Given the description of an element on the screen output the (x, y) to click on. 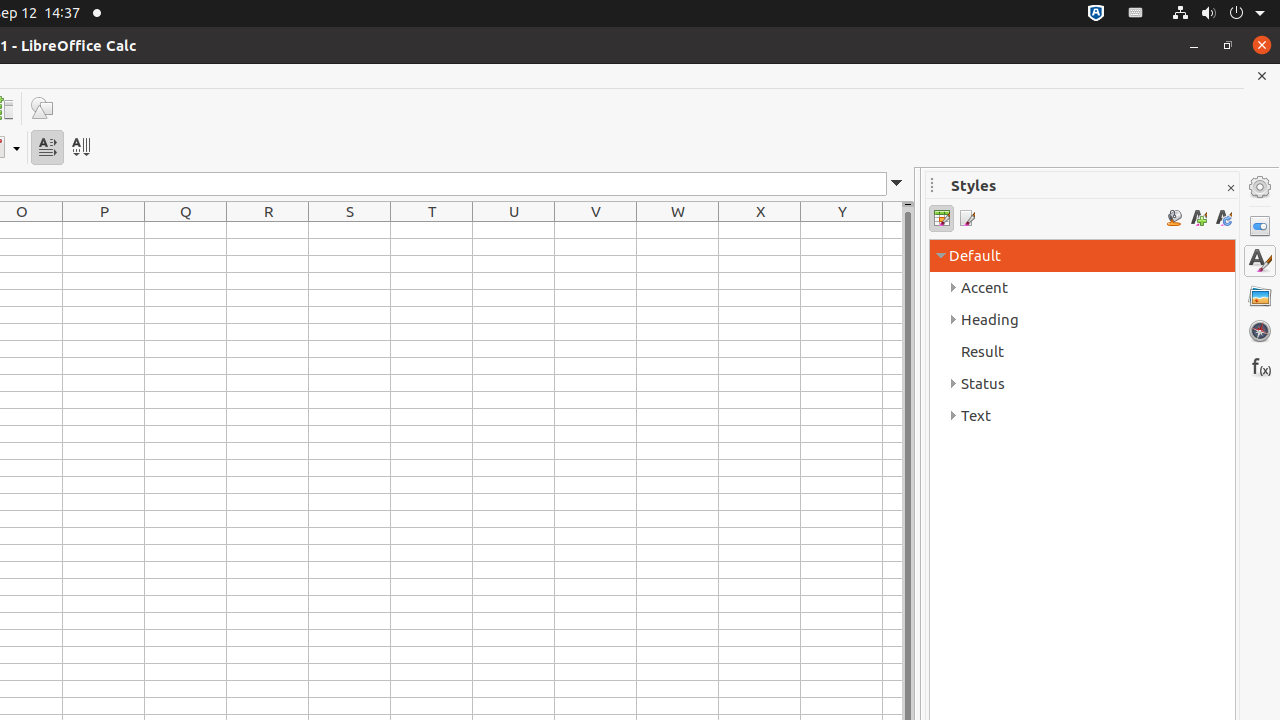
Expand Formula Bar Element type: push-button (897, 183)
Text direction from top to bottom Element type: toggle-button (80, 147)
:1.21/StatusNotifierItem Element type: menu (1136, 13)
System Element type: menu (1218, 13)
P1 Element type: table-cell (104, 230)
